Given the description of an element on the screen output the (x, y) to click on. 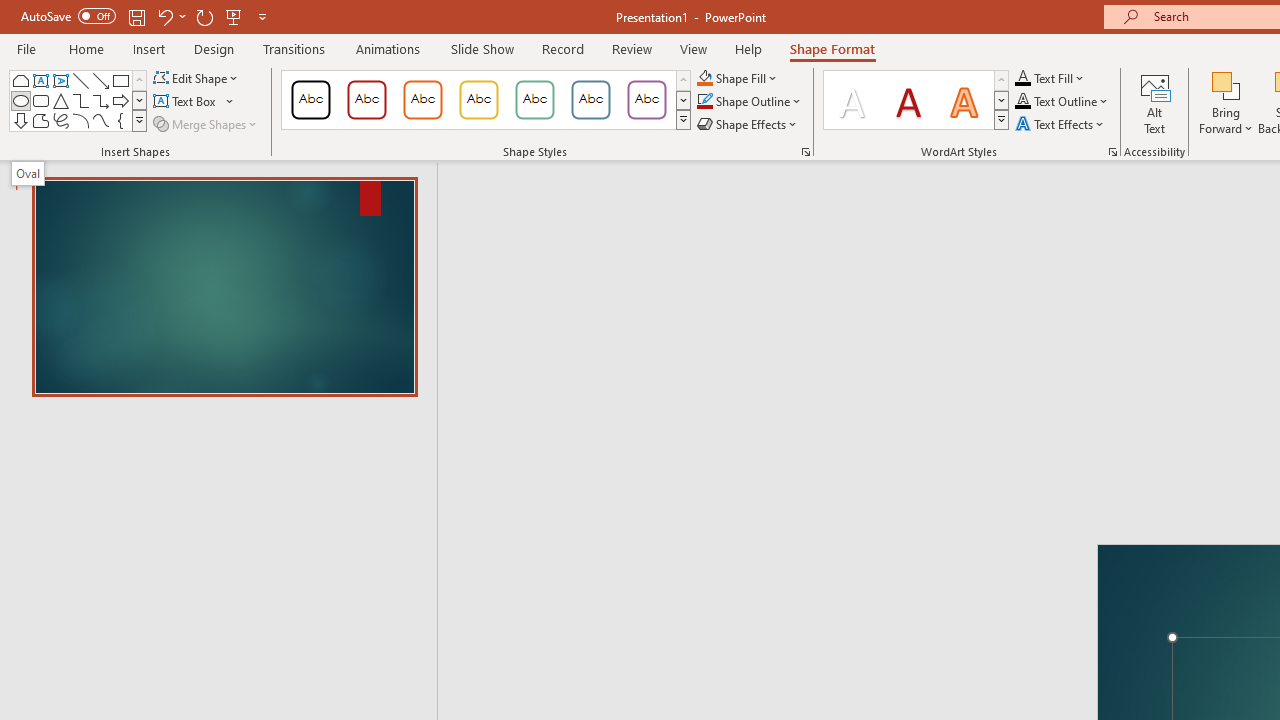
Text Outline (1062, 101)
Fill: Dark Red, Accent color 1; Shadow (908, 100)
Edit Shape (196, 78)
Arrow: Down (20, 120)
Text Fill RGB(0, 0, 0) (1023, 78)
Colored Outline - Blue-Gray, Accent 5 (591, 100)
Arrow: Right (120, 100)
Row up (1001, 79)
